Given the description of an element on the screen output the (x, y) to click on. 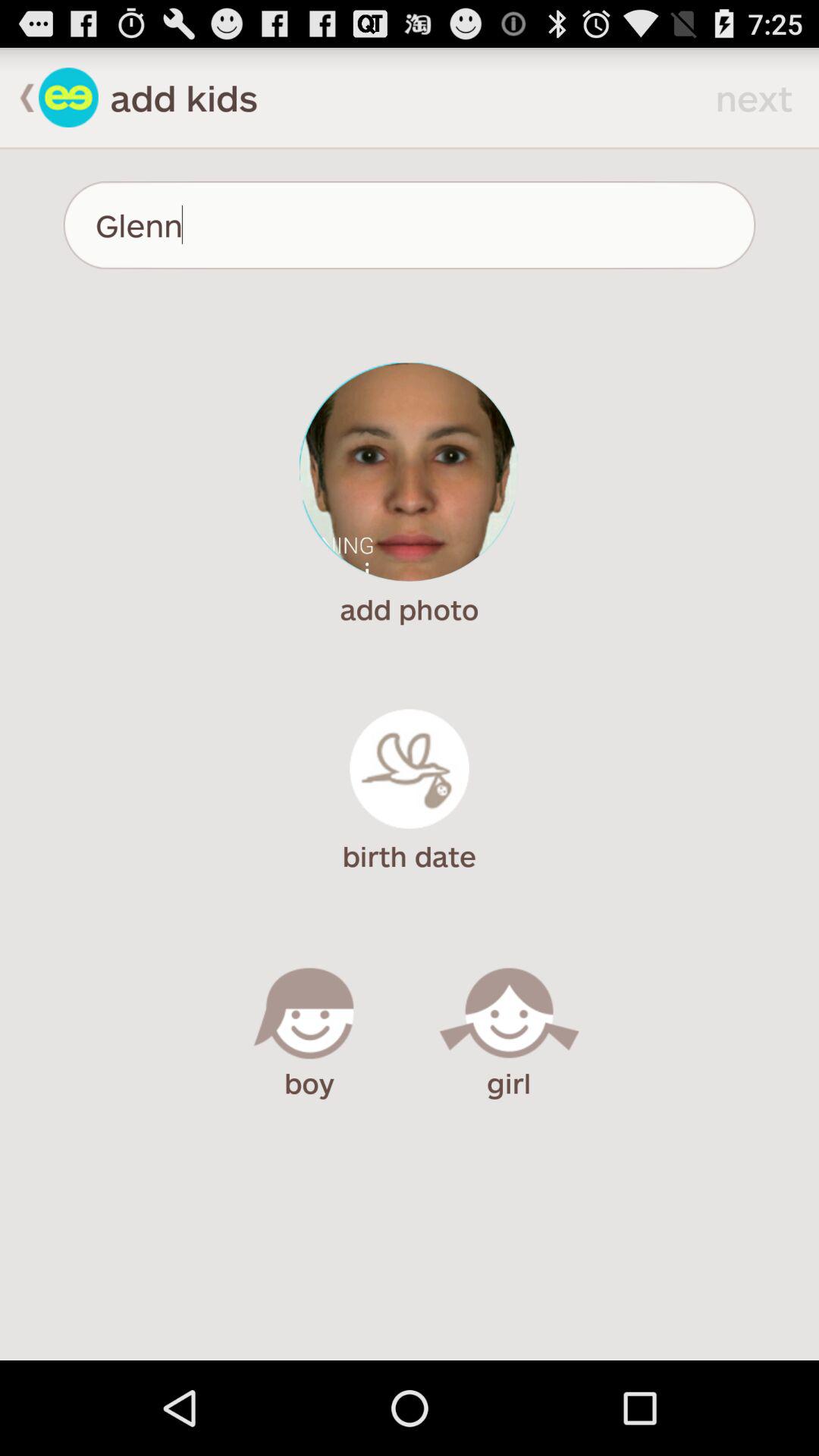
change profile picture (408, 471)
